Given the description of an element on the screen output the (x, y) to click on. 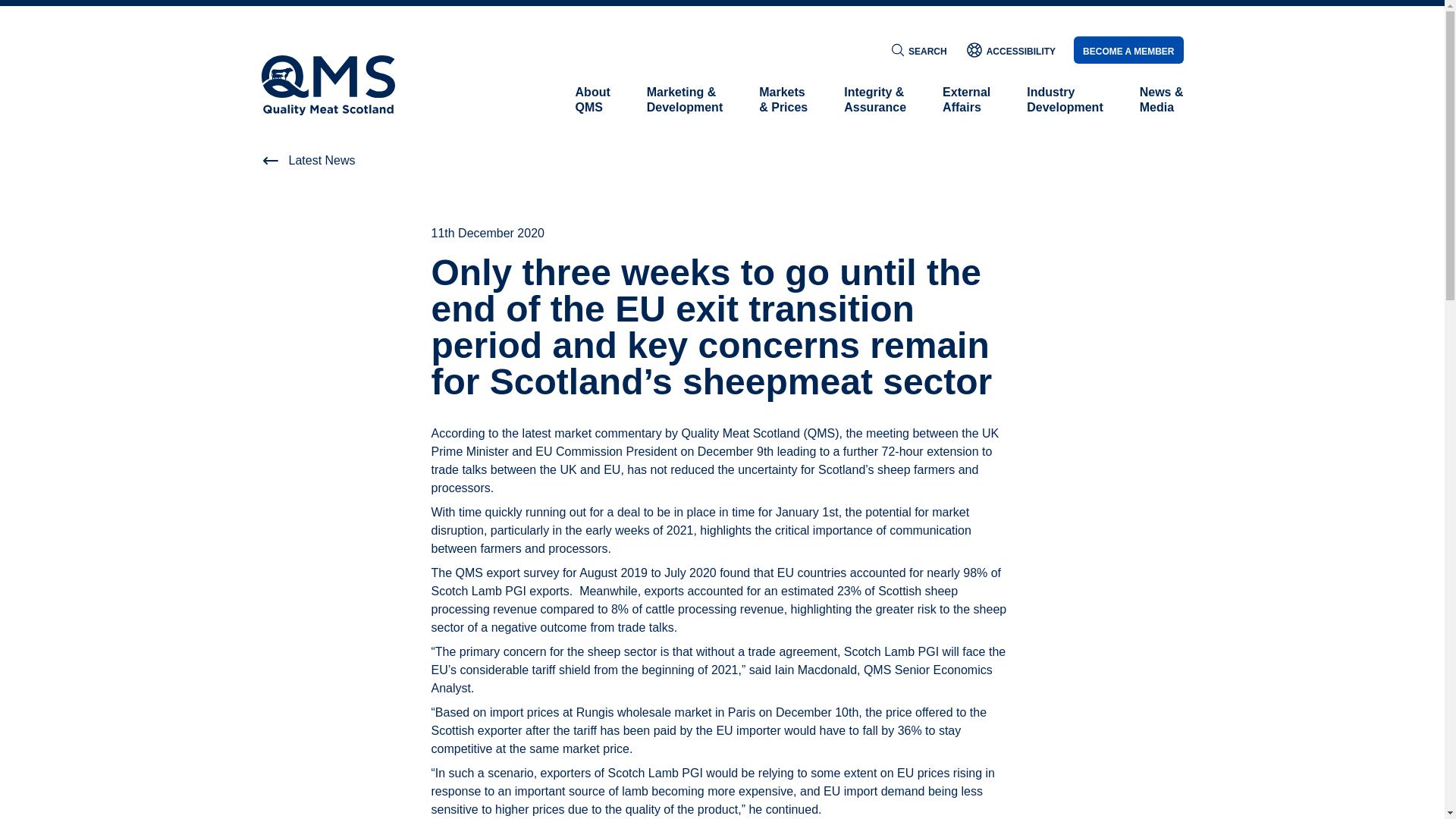
ACCESSIBILITY (1010, 49)
BECOME A MEMBER (1128, 49)
Quality Meat Scotland (966, 100)
SEARCH (327, 85)
Latest News (592, 100)
